Given the description of an element on the screen output the (x, y) to click on. 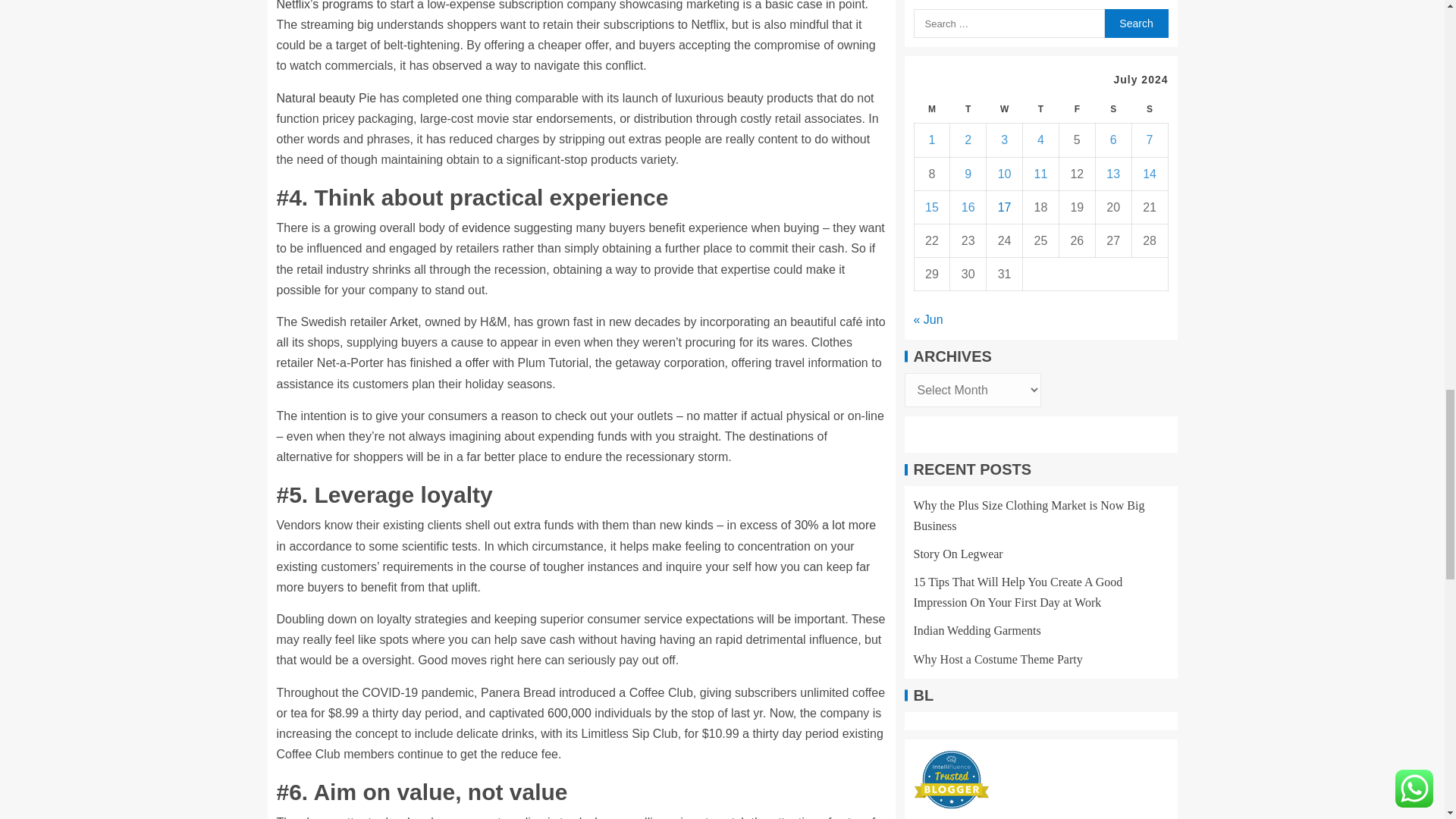
Arket (403, 321)
evidence (486, 227)
Natural beauty Pie (325, 97)
